Given the description of an element on the screen output the (x, y) to click on. 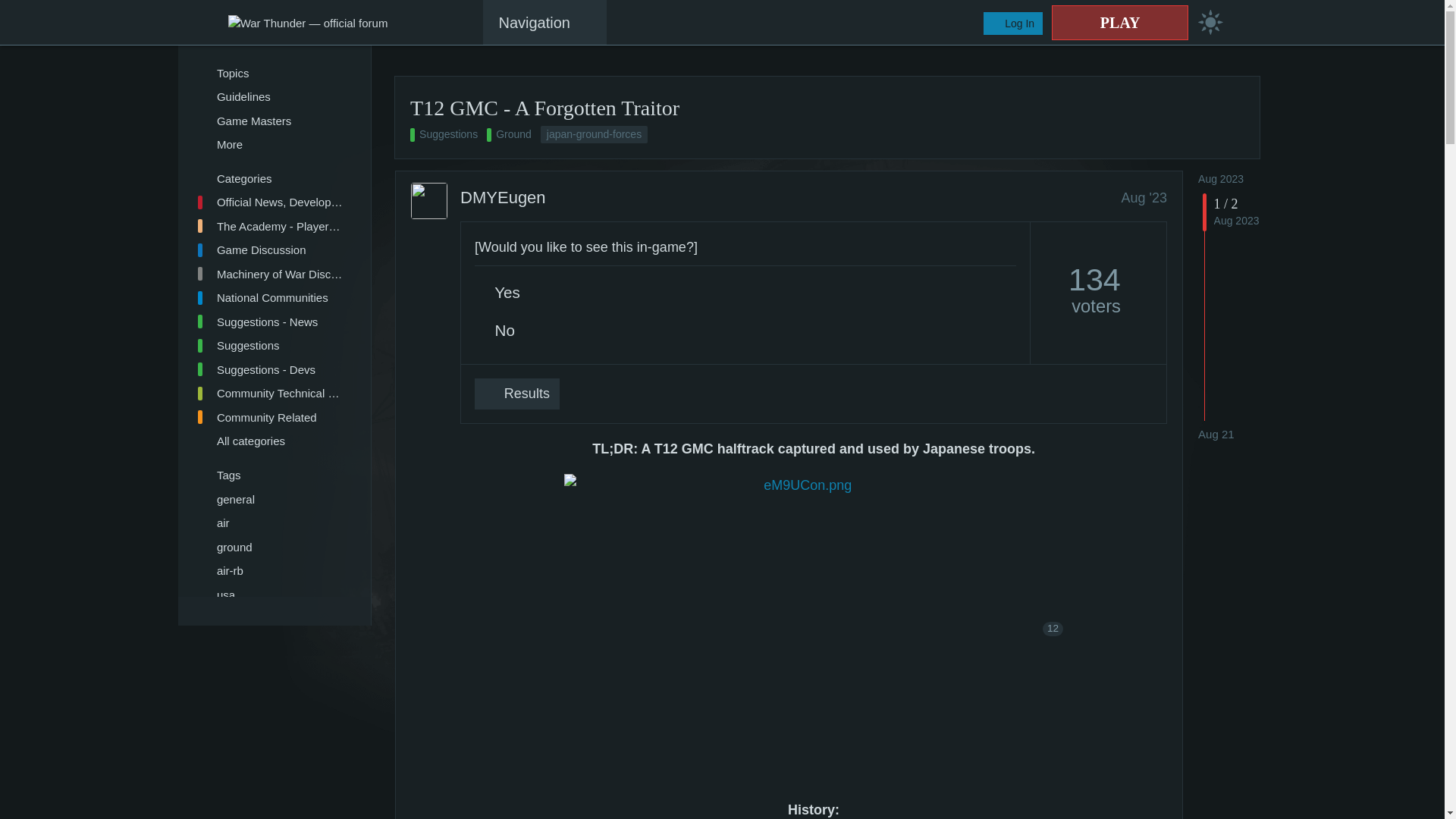
Machinery of War Discussion (268, 274)
Log In (1013, 23)
All categories (268, 441)
general (268, 498)
Community Related (268, 417)
Guidelines (268, 96)
Suggestions - Devs (268, 369)
Tags (269, 474)
Official News, Development Blogs and Updates for War Thunder (268, 202)
air (268, 523)
